Given the description of an element on the screen output the (x, y) to click on. 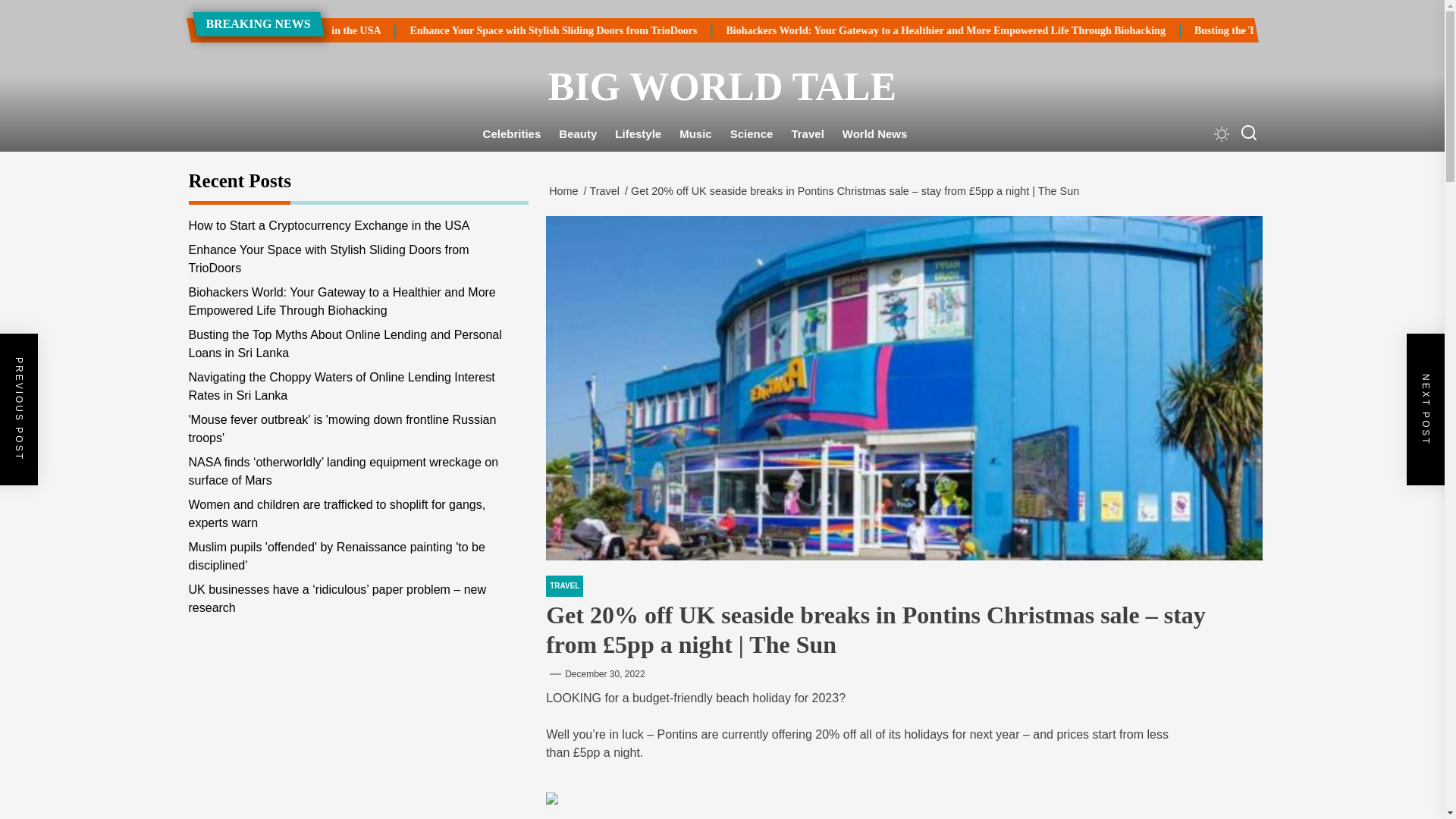
Beauty (577, 134)
How to Start a Cryptocurrency Exchange in the USA (378, 30)
Science (751, 134)
Travel (606, 191)
BIG WORLD TALE (721, 86)
How to Start a Cryptocurrency Exchange in the USA (457, 30)
Enhance Your Space with Stylish Sliding Doors from TrioDoors (750, 30)
December 30, 2022 (604, 674)
World News (874, 134)
Enhance Your Space with Stylish Sliding Doors from TrioDoors (668, 30)
Home (566, 191)
TRAVEL (564, 586)
Celebrities (512, 134)
Lifestyle (637, 134)
